Given the description of an element on the screen output the (x, y) to click on. 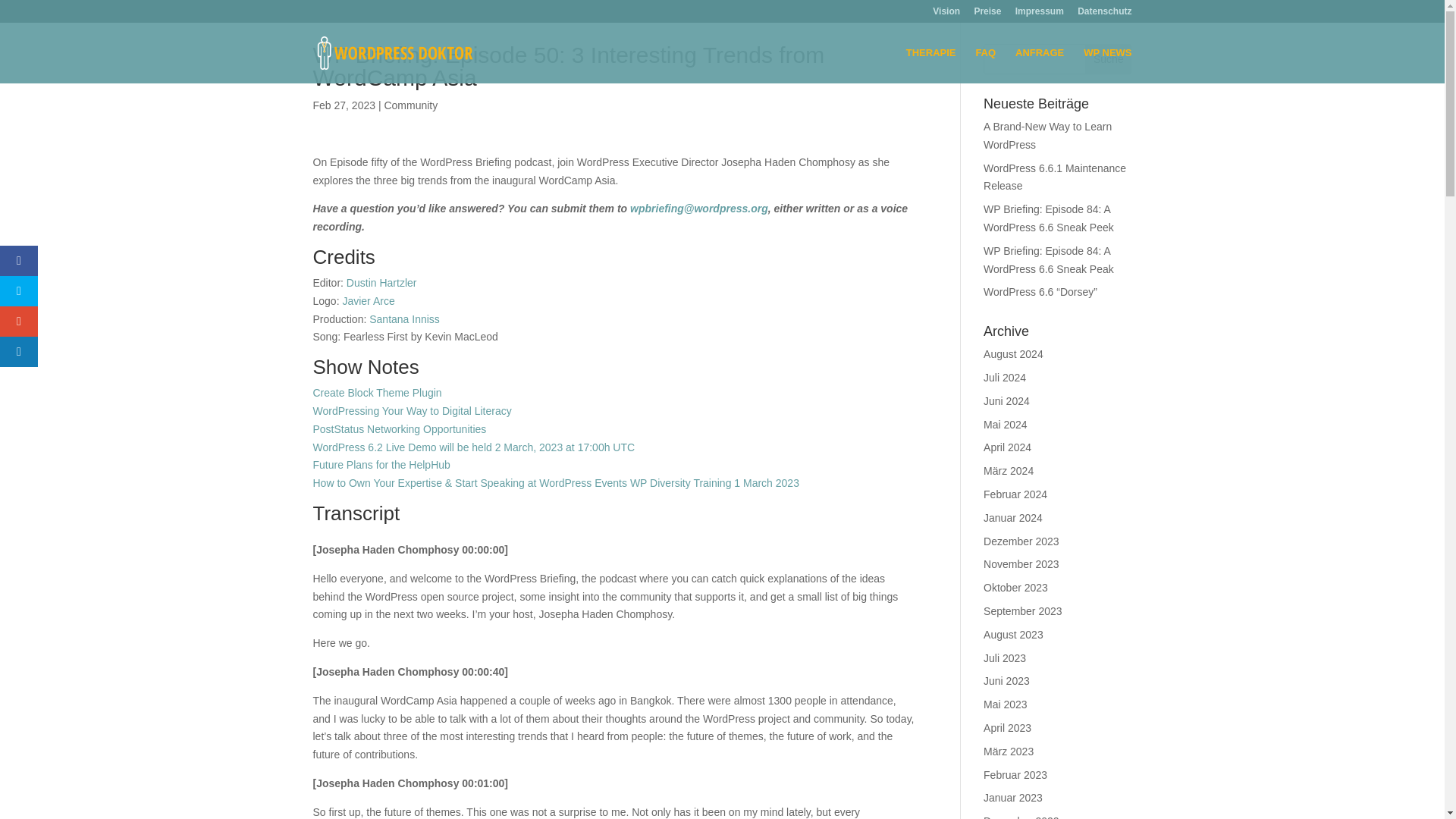
Datenschutz (1104, 14)
WordPressing Your Way to Digital Literacy (412, 410)
ANFRAGE (1039, 65)
WP Briefing: Episode 84: A WordPress 6.6 Sneak Peek (1048, 218)
Januar 2024 (1013, 517)
August 2023 (1013, 634)
November 2023 (1021, 563)
Future Plans for the HelpHub (381, 464)
Community (411, 105)
September 2023 (1023, 611)
